Given the description of an element on the screen output the (x, y) to click on. 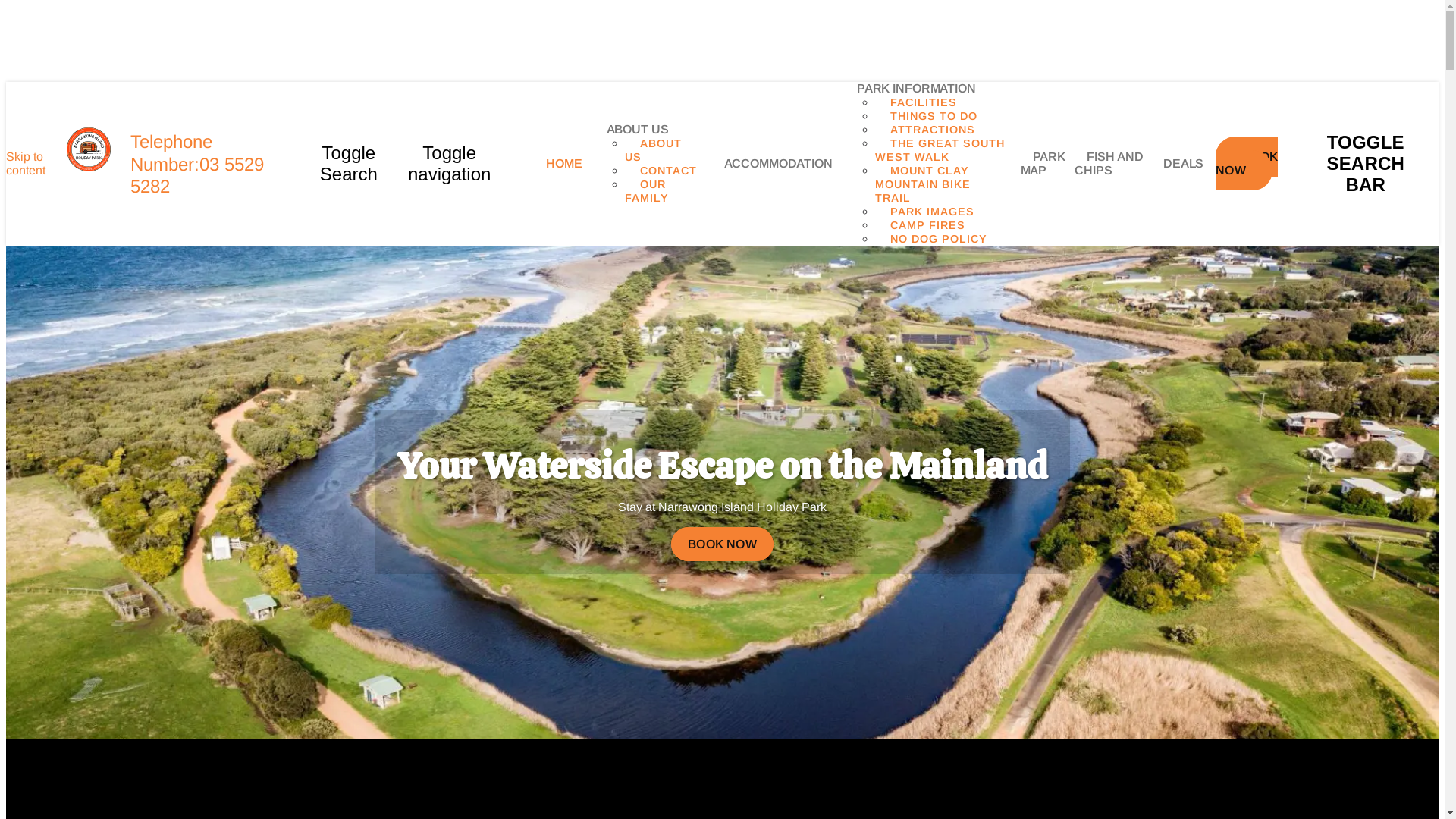
BOOK NOW Element type: text (722, 543)
Telephone Number:03 5529 5282 Element type: text (196, 163)
THINGS TO DO Element type: text (933, 115)
PARK MAP Element type: text (1042, 163)
ATTRACTIONS Element type: text (932, 129)
OUR FAMILY Element type: text (654, 190)
NO DOG POLICY Element type: text (938, 238)
Skip to content Element type: text (25, 163)
Toggle navigation Element type: text (449, 164)
HOME Element type: text (563, 163)
DEALS Element type: text (1183, 163)
FACILITIES Element type: text (923, 101)
CAMP FIRES Element type: text (927, 224)
Toggle Search Element type: text (348, 164)
MOUNT CLAY MOUNTAIN BIKE TRAIL Element type: text (922, 184)
THE GREAT SOUTH WEST WALK Element type: text (939, 149)
FISH AND CHIPS Element type: text (1108, 163)
PARK IMAGES Element type: text (932, 211)
CONTACT Element type: text (668, 170)
BOOK NOW Element type: text (1246, 163)
PARK INFORMATION Element type: text (916, 88)
ABOUT US Element type: text (652, 149)
ACCOMMODATION Element type: text (778, 163)
TOGGLE SEARCH BAR Element type: text (1365, 163)
ABOUT US Element type: text (637, 129)
